Given the description of an element on the screen output the (x, y) to click on. 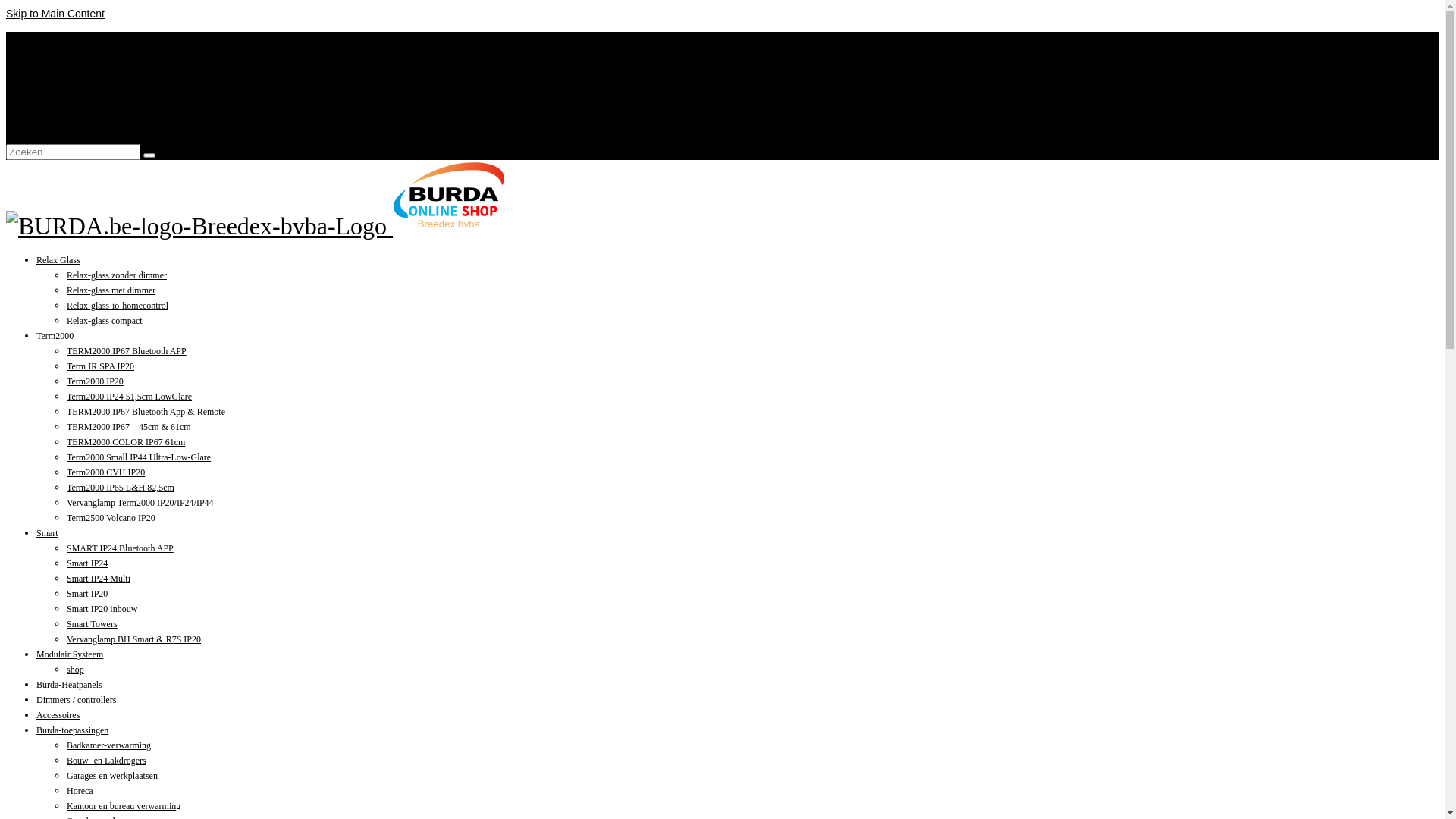
TERM2000 IP67 Bluetooth App & Remote Element type: text (145, 411)
Burda-Heatpanels Element type: text (69, 684)
Badkamer-verwarming Element type: text (108, 745)
TERM2000 COLOR IP67 61cm Element type: text (125, 441)
Horeca Element type: text (79, 790)
Relax-glass compact Element type: text (104, 320)
Dimmers / controllers Element type: text (76, 699)
Smart IP20 Element type: text (86, 593)
Smart IP20 inbouw Element type: text (101, 608)
SMART IP24 Bluetooth APP Element type: text (119, 547)
TERM2000 IP67 Bluetooth APP Element type: text (126, 350)
Smart IP24 Multi Element type: text (98, 578)
Term2000 CVH IP20 Element type: text (105, 472)
Term2000 Element type: text (54, 335)
Term2000 Small IP44 Ultra-Low-Glare Element type: text (138, 456)
Accessoires Element type: text (57, 714)
Skip to Main Content Element type: text (55, 13)
Bouw- en Lakdrogers Element type: text (106, 760)
shop Element type: text (75, 669)
Smart Element type: text (47, 532)
Uw gegevens Element type: text (65, 99)
Burda-toepassingen Element type: text (72, 729)
Term2000 IP65 L&H 82,5cm Element type: text (120, 487)
Vervanglamp Term2000 IP20/IP24/IP44 Element type: text (139, 502)
Smart IP24 Element type: text (86, 563)
Term2500 Volcano IP20 Element type: text (110, 517)
Term IR SPA IP20 Element type: text (100, 365)
Winkelwagen Element type: text (65, 69)
Smart Towers Element type: text (91, 623)
Garages en werkplaatsen Element type: text (111, 775)
Afrekenen Element type: text (58, 84)
Vervanglamp BH Smart & R7S IP20 Element type: text (133, 638)
www.burda.be Element type: text (67, 38)
Relax-glass met dimmer Element type: text (110, 290)
Modulair Systeem Element type: text (69, 654)
Term2000 IP20 Element type: text (94, 381)
Openingstijden Element type: text (68, 53)
Term2000 IP24 51,5cm LowGlare Element type: text (128, 396)
Relax-glass-io-homecontrol Element type: text (117, 305)
Relax-glass zonder dimmer Element type: text (116, 274)
Relax Glass Element type: text (58, 259)
Kantoor en bureau verwarming Element type: text (123, 805)
